Given the description of an element on the screen output the (x, y) to click on. 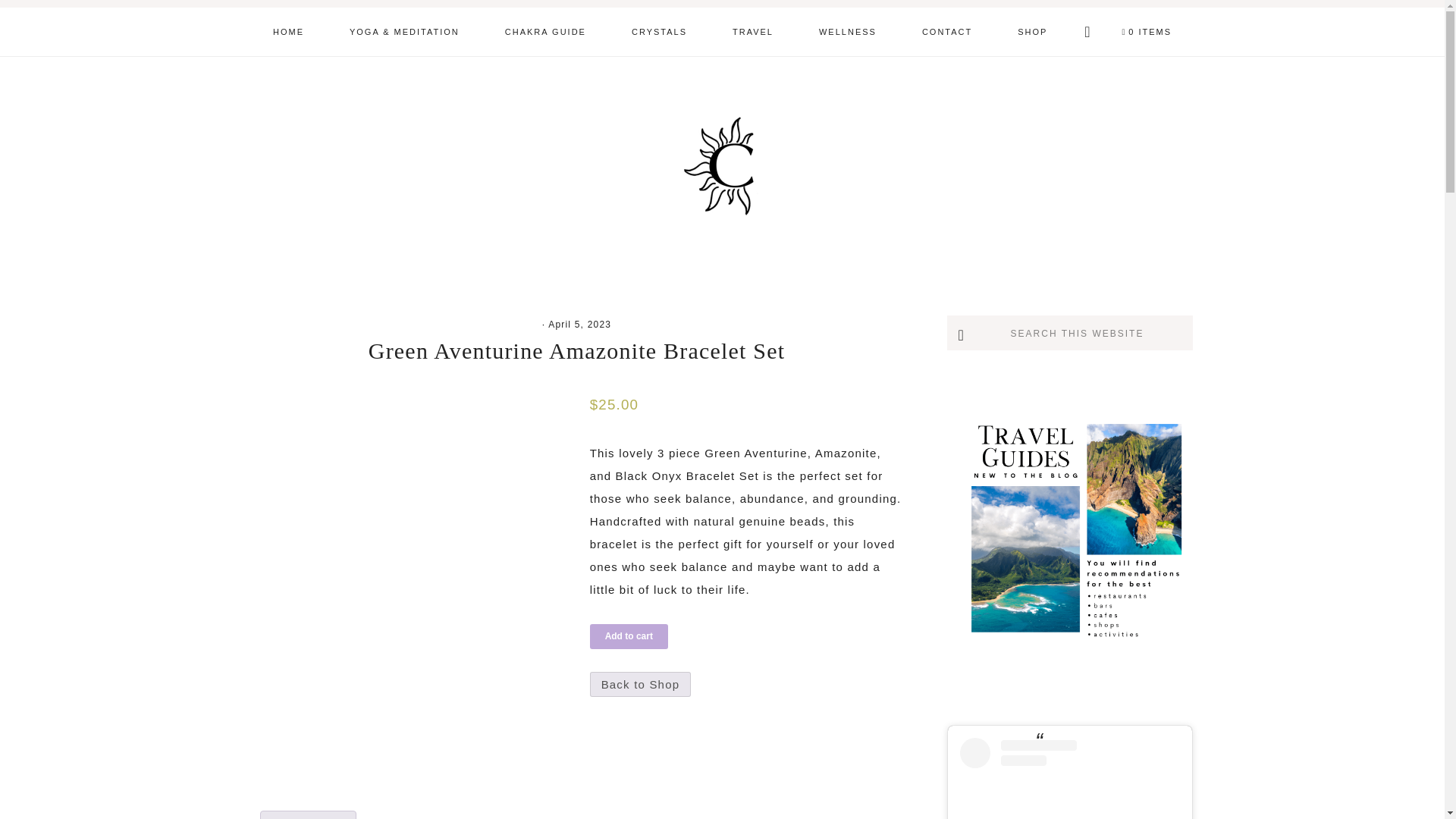
CHAKRA GUIDE (544, 31)
TRAVEL (753, 31)
HOME (288, 31)
WELLNESS (847, 31)
Start shopping (1146, 31)
CRYSTALS (659, 31)
CONTACT (946, 31)
